Given the description of an element on the screen output the (x, y) to click on. 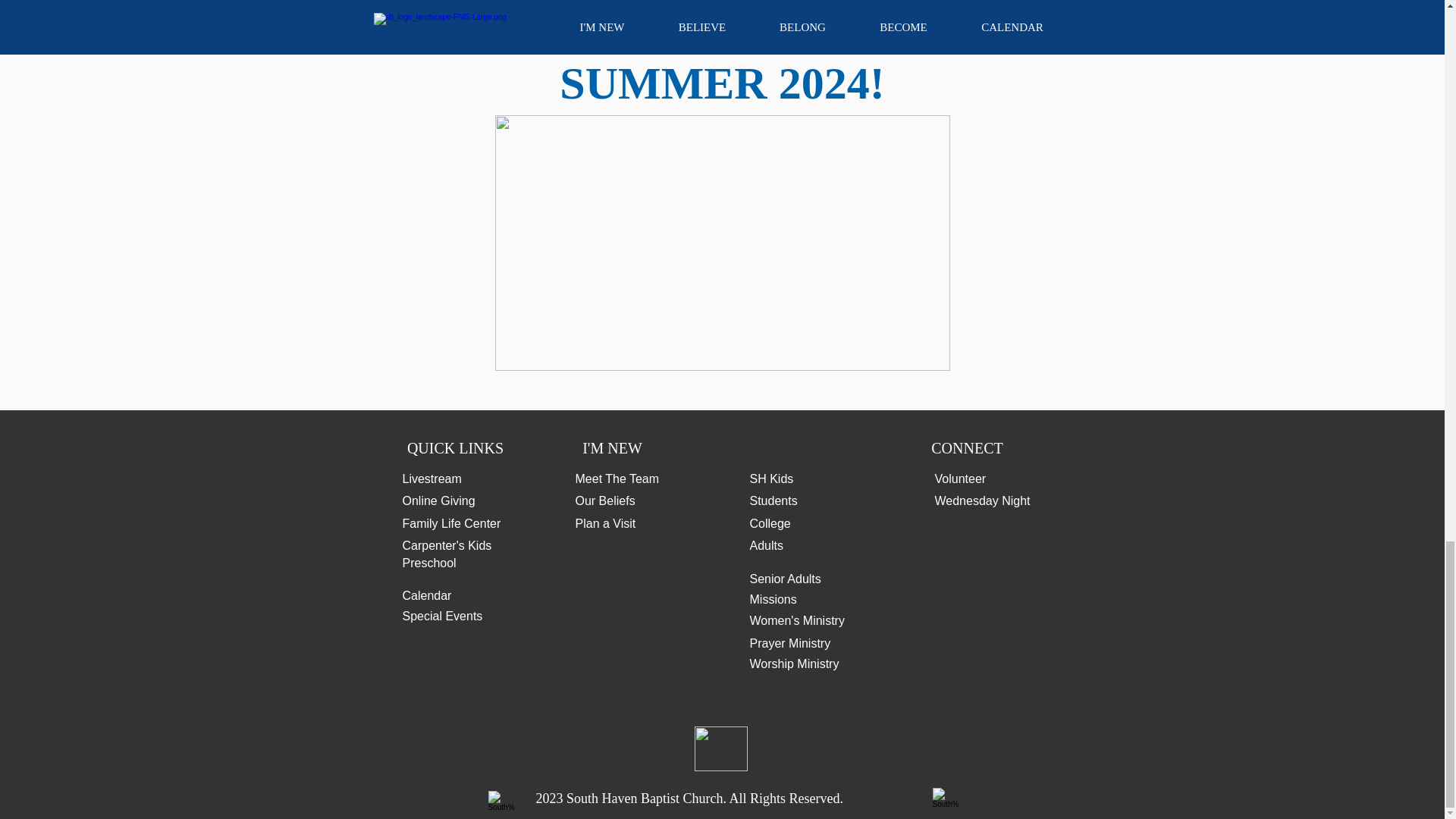
Plan a Visit (604, 522)
Volunteer (959, 478)
Special Events (441, 615)
Calendar (426, 594)
Our Beliefs (604, 500)
Online Giving (437, 500)
Family Life Center (450, 522)
Prayer Ministry (789, 643)
Worship Ministry (793, 663)
College (769, 522)
